Given the description of an element on the screen output the (x, y) to click on. 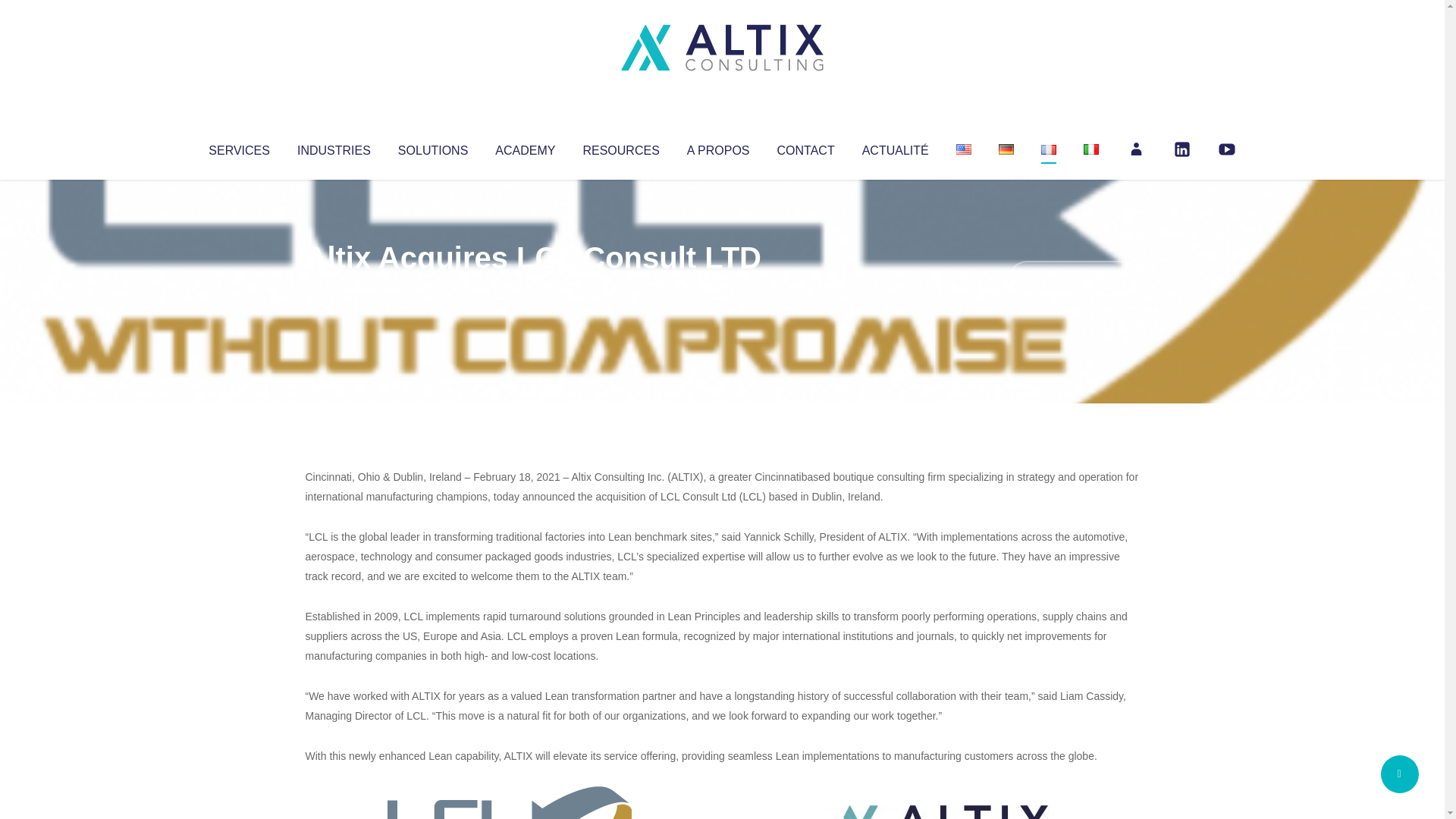
INDUSTRIES (334, 146)
SOLUTIONS (432, 146)
Altix (333, 287)
RESOURCES (620, 146)
ACADEMY (524, 146)
No Comments (1073, 278)
A PROPOS (718, 146)
SERVICES (238, 146)
Articles par Altix (333, 287)
Uncategorized (530, 287)
